Given the description of an element on the screen output the (x, y) to click on. 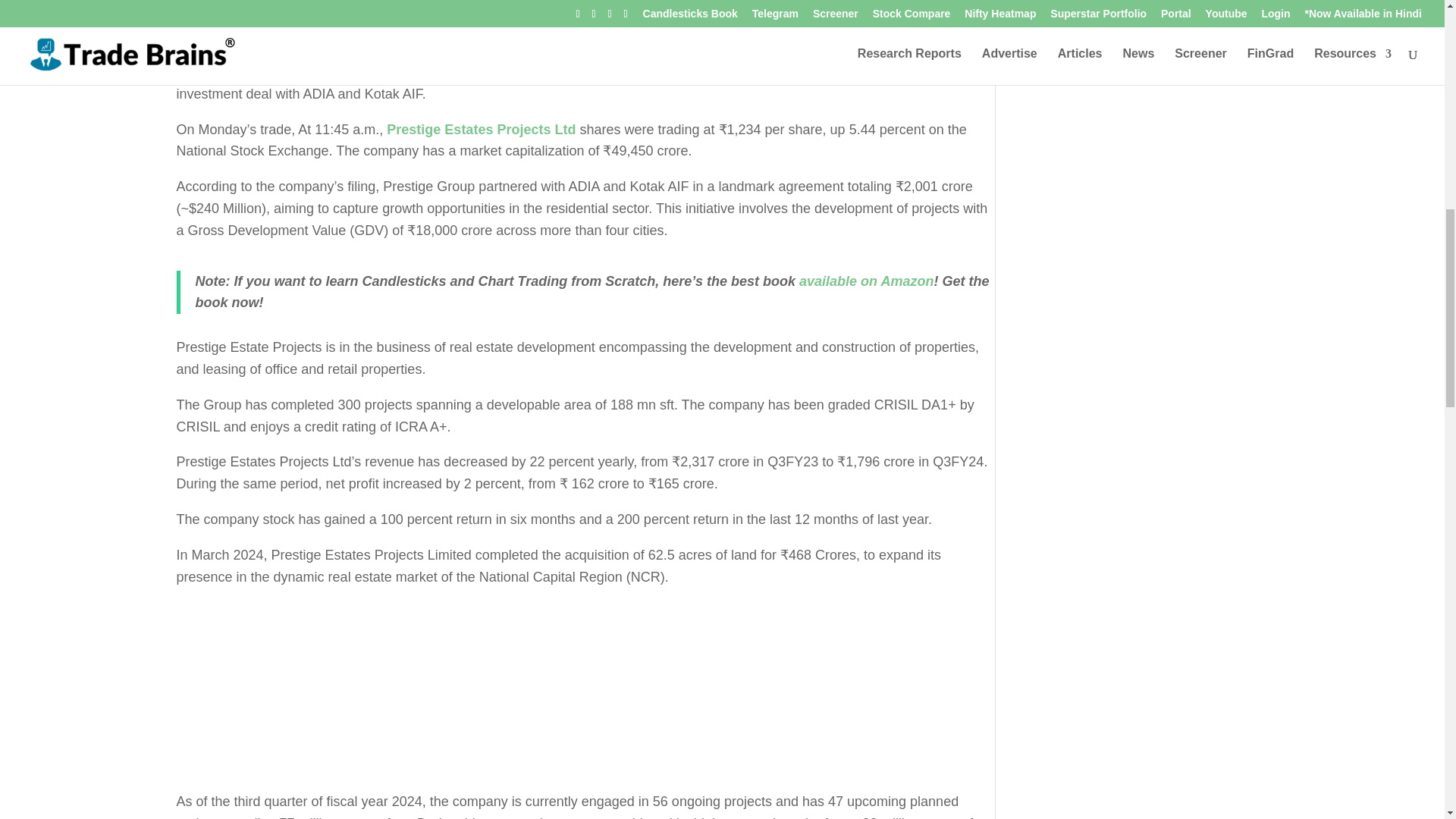
available on Amazon (866, 281)
CandleBook (866, 281)
Prestige Estates Projects Ltd (481, 129)
